Given the description of an element on the screen output the (x, y) to click on. 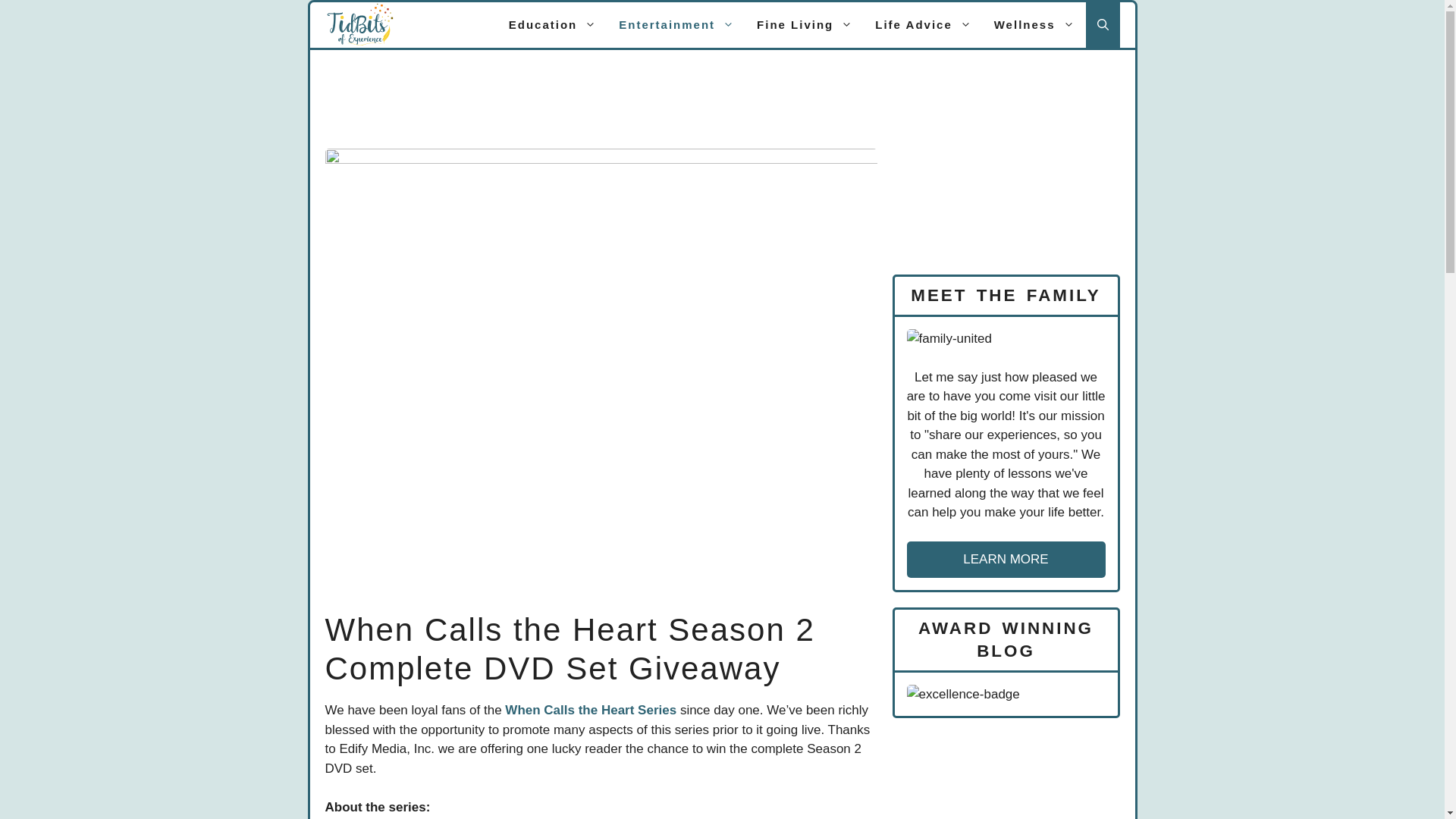
Tidbits of Experience (359, 24)
Entertainment (676, 24)
Education (552, 24)
Fine Living (804, 24)
